Given the description of an element on the screen output the (x, y) to click on. 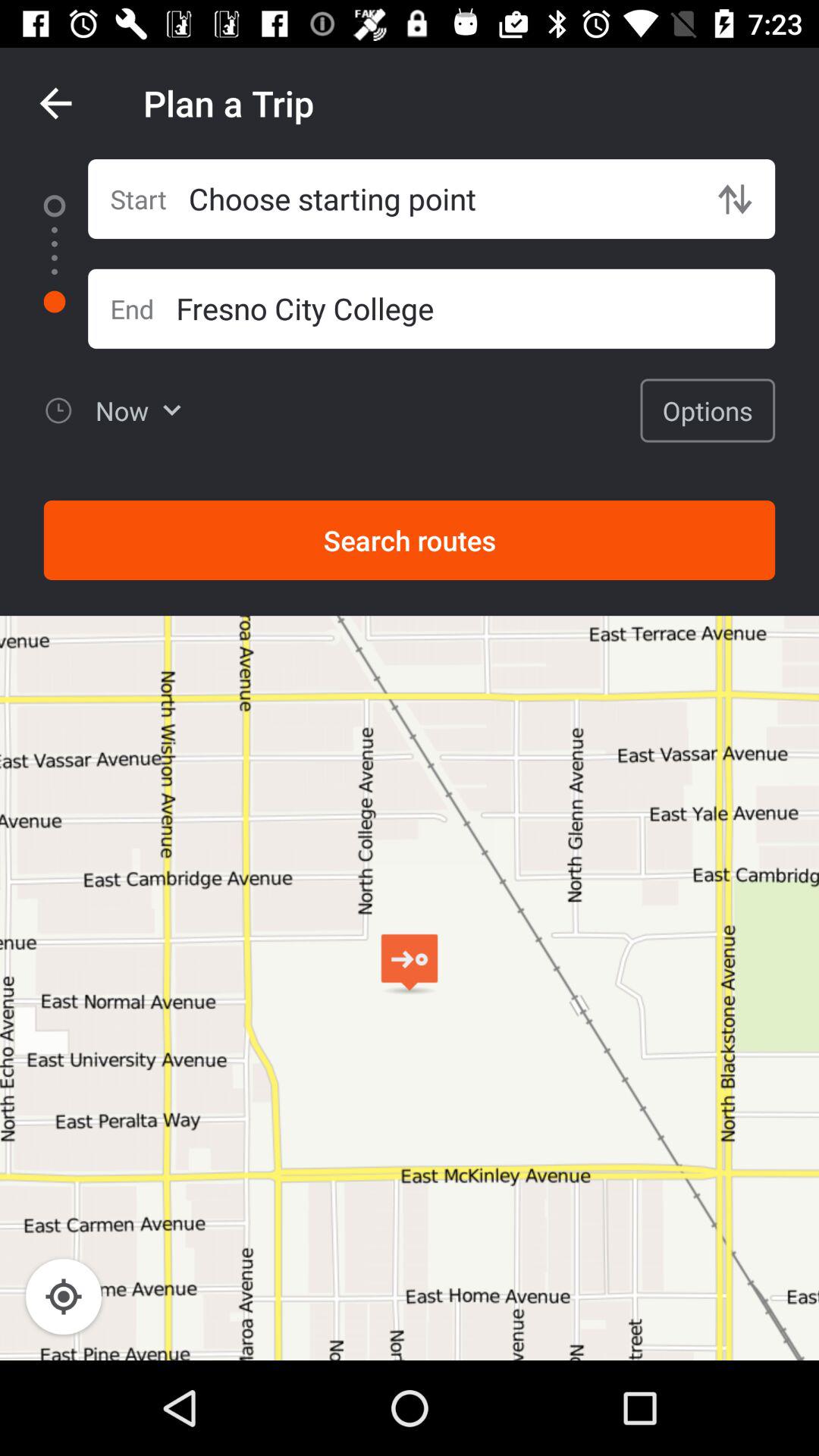
press icon to the left of the plan a trip icon (55, 103)
